Given the description of an element on the screen output the (x, y) to click on. 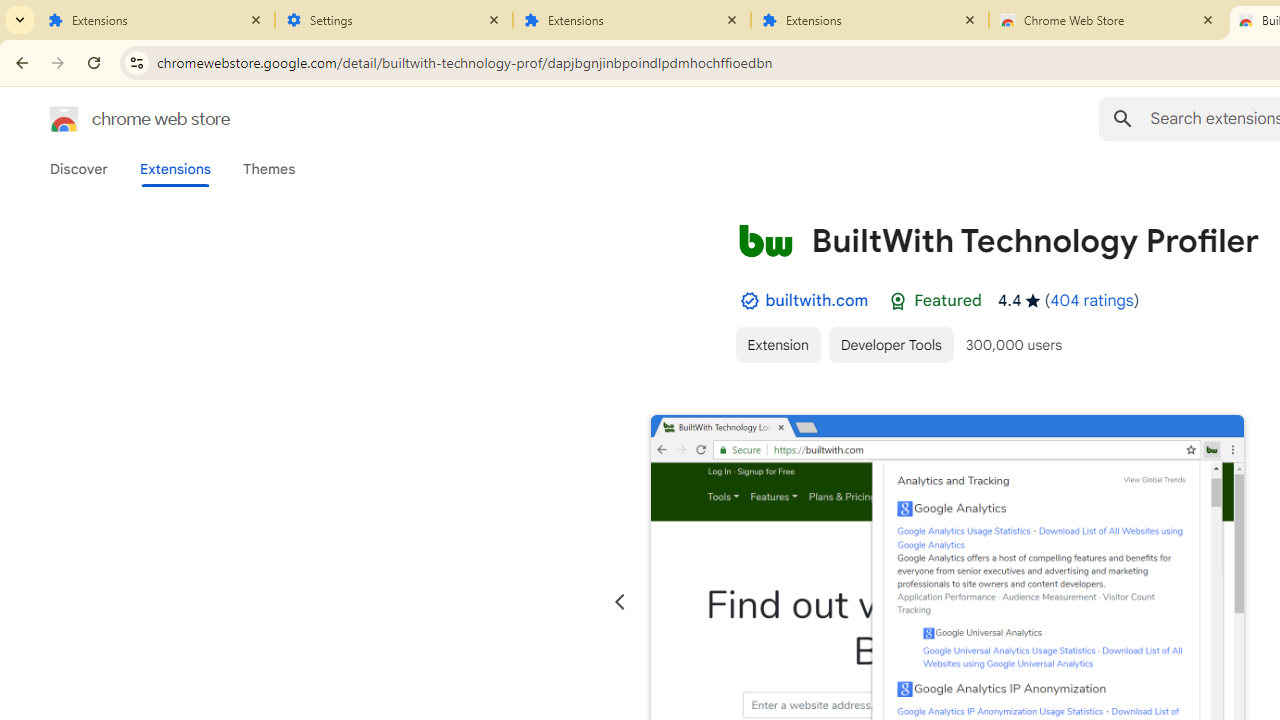
Extensions (870, 20)
Previous slide (619, 601)
Featured Badge (898, 301)
Item logo image for BuiltWith Technology Profiler (765, 240)
Chrome Web Store (1108, 20)
404 ratings (1091, 300)
Extensions (174, 169)
builtwith.com (817, 300)
Developer Tools (890, 344)
Chrome Web Store logo (63, 118)
Extensions (156, 20)
